Given the description of an element on the screen output the (x, y) to click on. 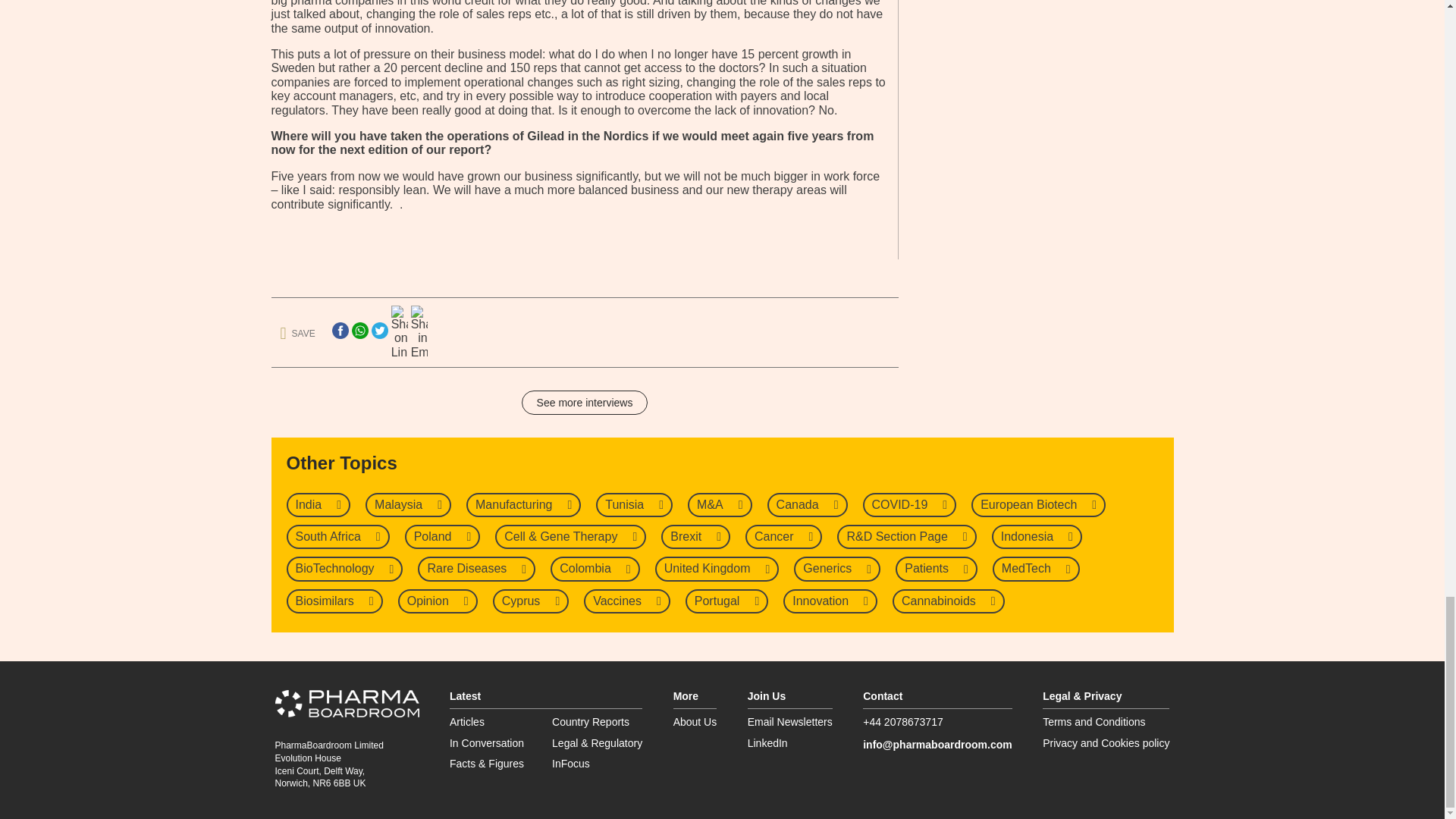
WhatsApp (360, 330)
Twitter (379, 330)
Facebook (340, 330)
